Given the description of an element on the screen output the (x, y) to click on. 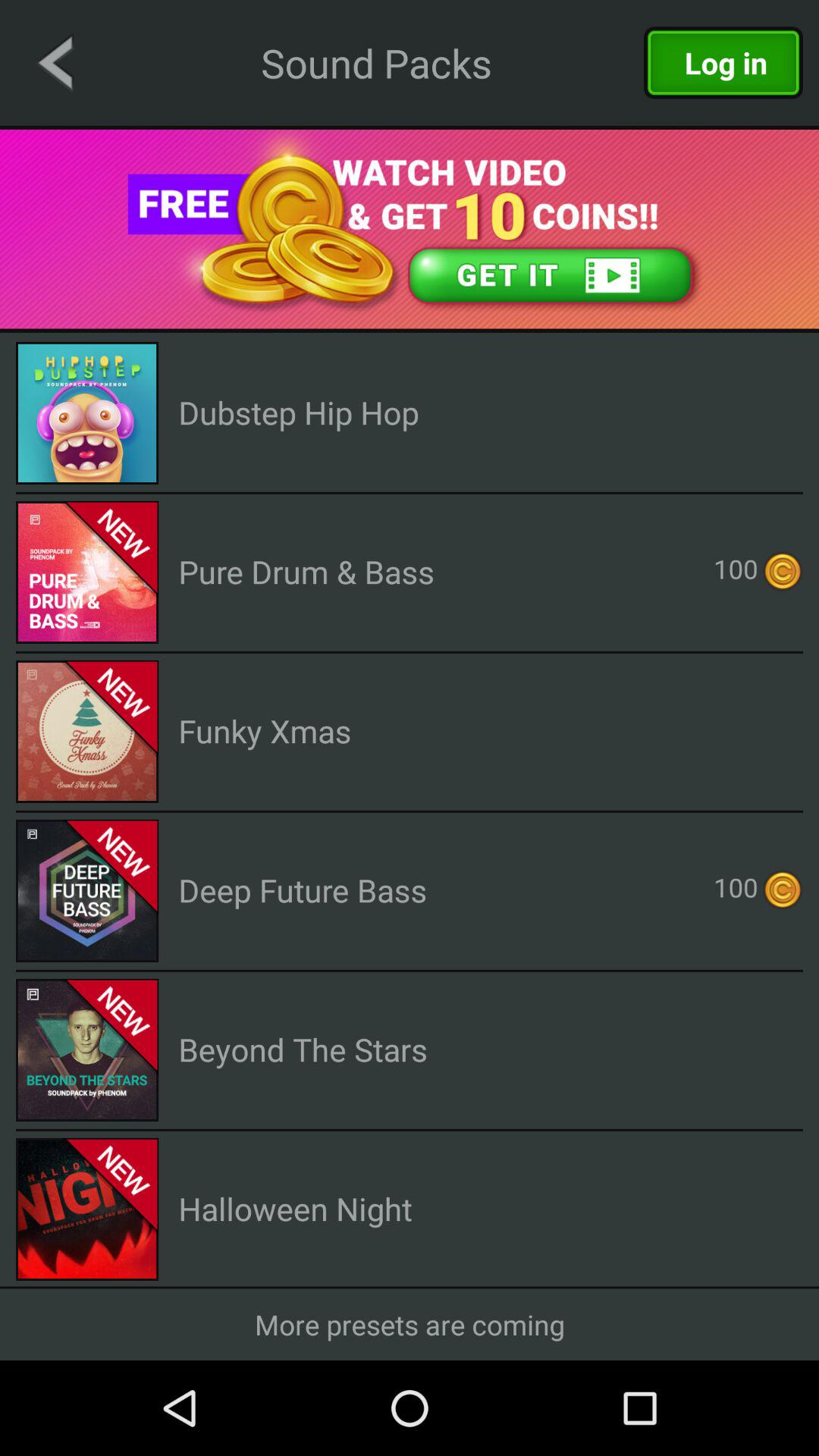
open video (409, 228)
